Given the description of an element on the screen output the (x, y) to click on. 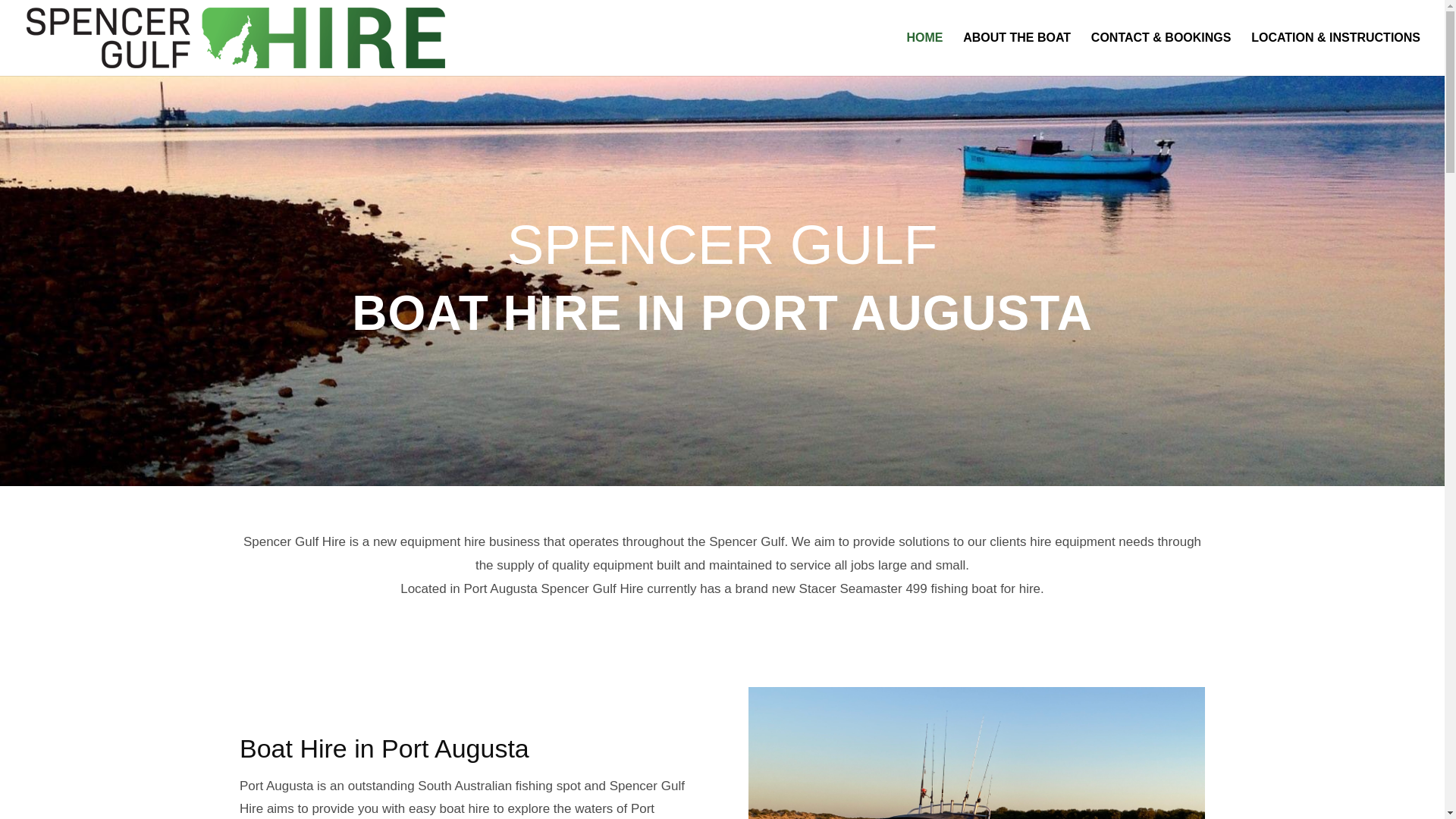
ABOUT THE BOAT (1016, 54)
